Given the description of an element on the screen output the (x, y) to click on. 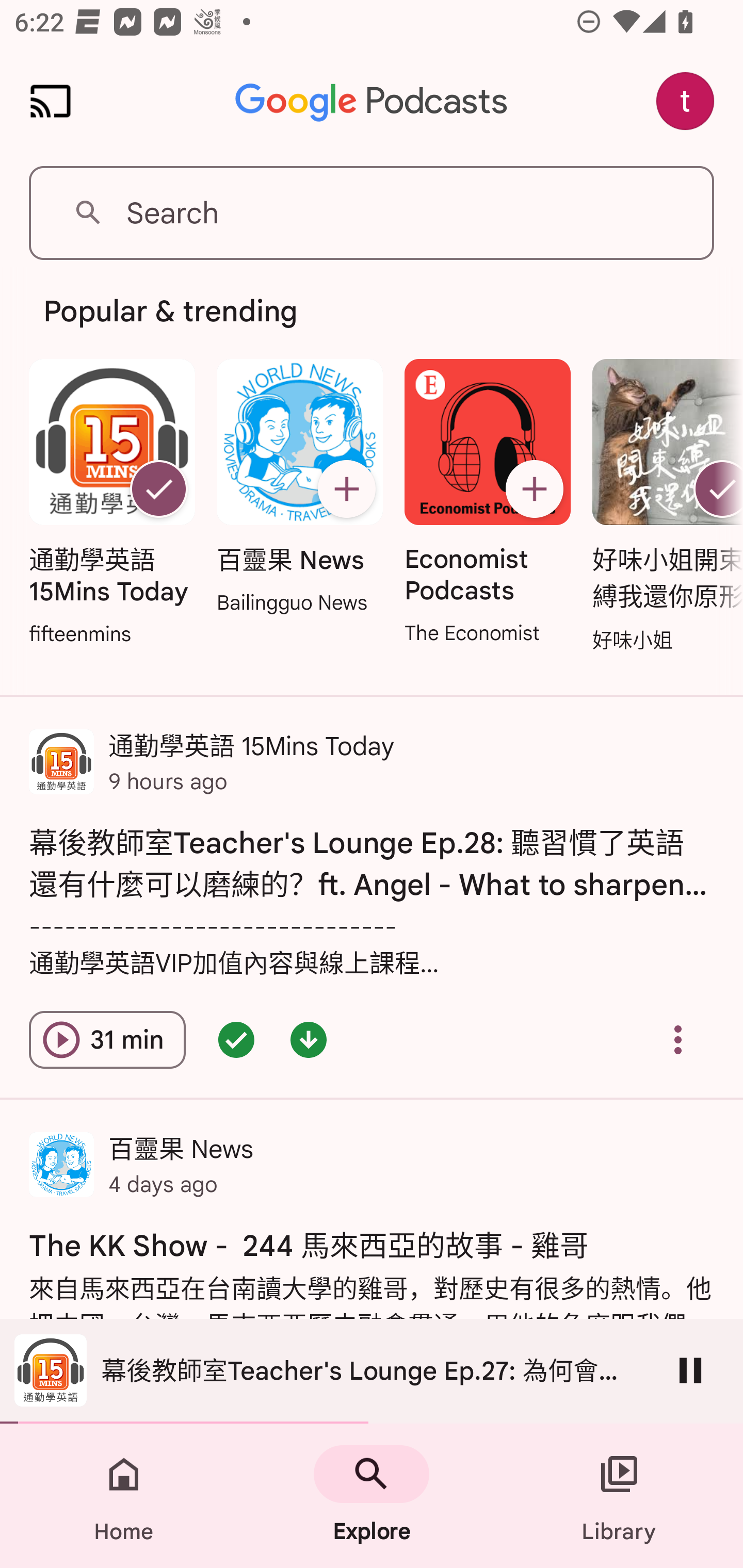
Cast. Disconnected (50, 101)
Search (371, 212)
百靈果 News Subscribe 百靈果 News Bailingguo News (299, 488)
好味小姐開束縛我還你原形 Unsubscribe 好味小姐開束縛我還你原形 好味小姐 (662, 507)
Unsubscribe (158, 489)
Subscribe (346, 489)
Subscribe (534, 489)
Unsubscribe (714, 489)
Episode queued - double tap for options (235, 1040)
Episode downloaded - double tap for options (308, 1040)
Overflow menu (677, 1040)
Pause (690, 1370)
Home (123, 1495)
Library (619, 1495)
